Given the description of an element on the screen output the (x, y) to click on. 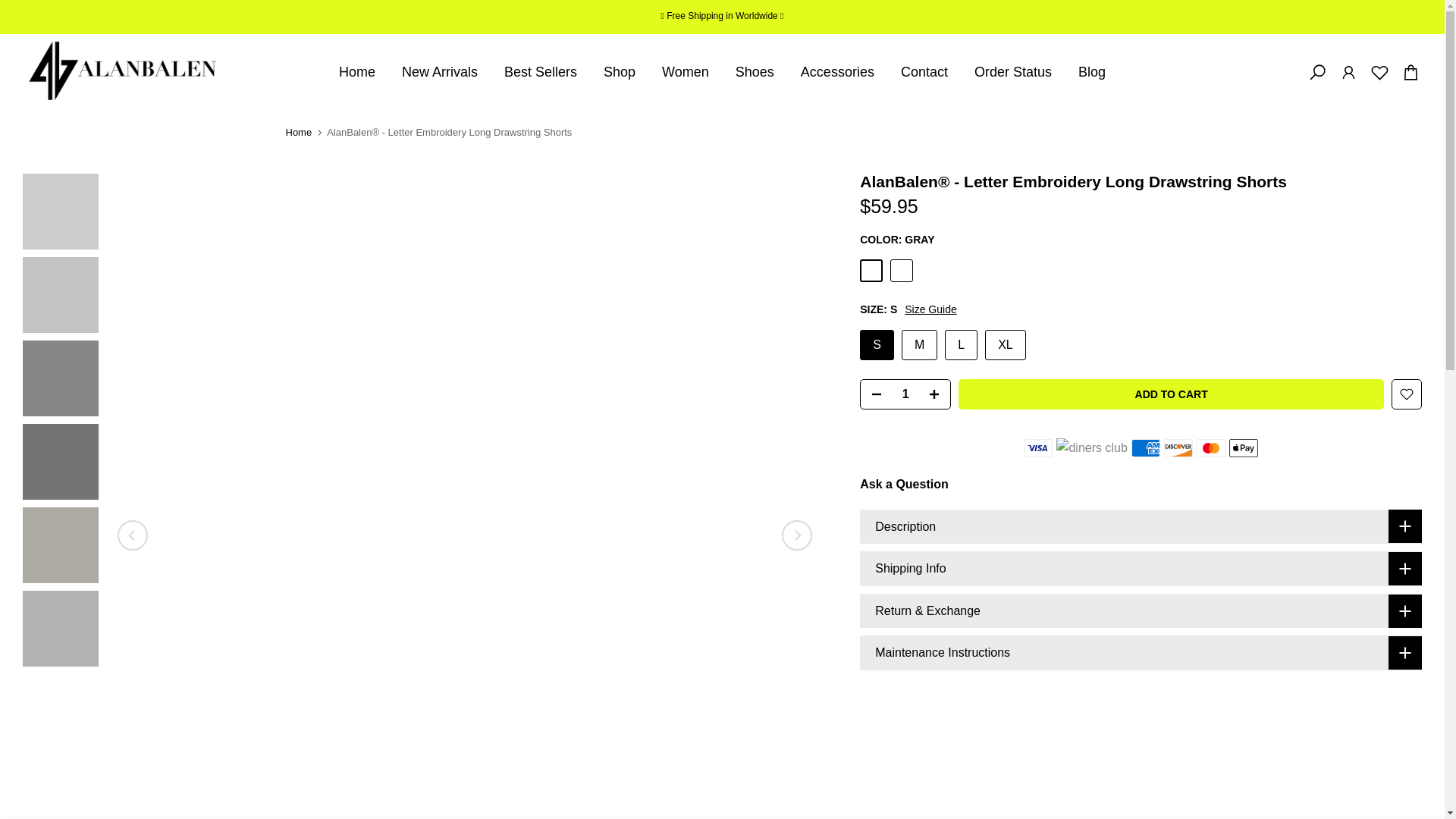
Accessories (836, 71)
Contact (923, 71)
Best Sellers (541, 71)
1 (905, 394)
Description (1141, 526)
Home (298, 132)
Ask a Question (903, 483)
Order Status (1012, 71)
Shoes (754, 71)
Gray (871, 270)
ADD TO CART (1171, 394)
Size Guide (930, 309)
Maintenance Instructions (1141, 652)
Skip to content (10, 7)
Home (356, 71)
